Given the description of an element on the screen output the (x, y) to click on. 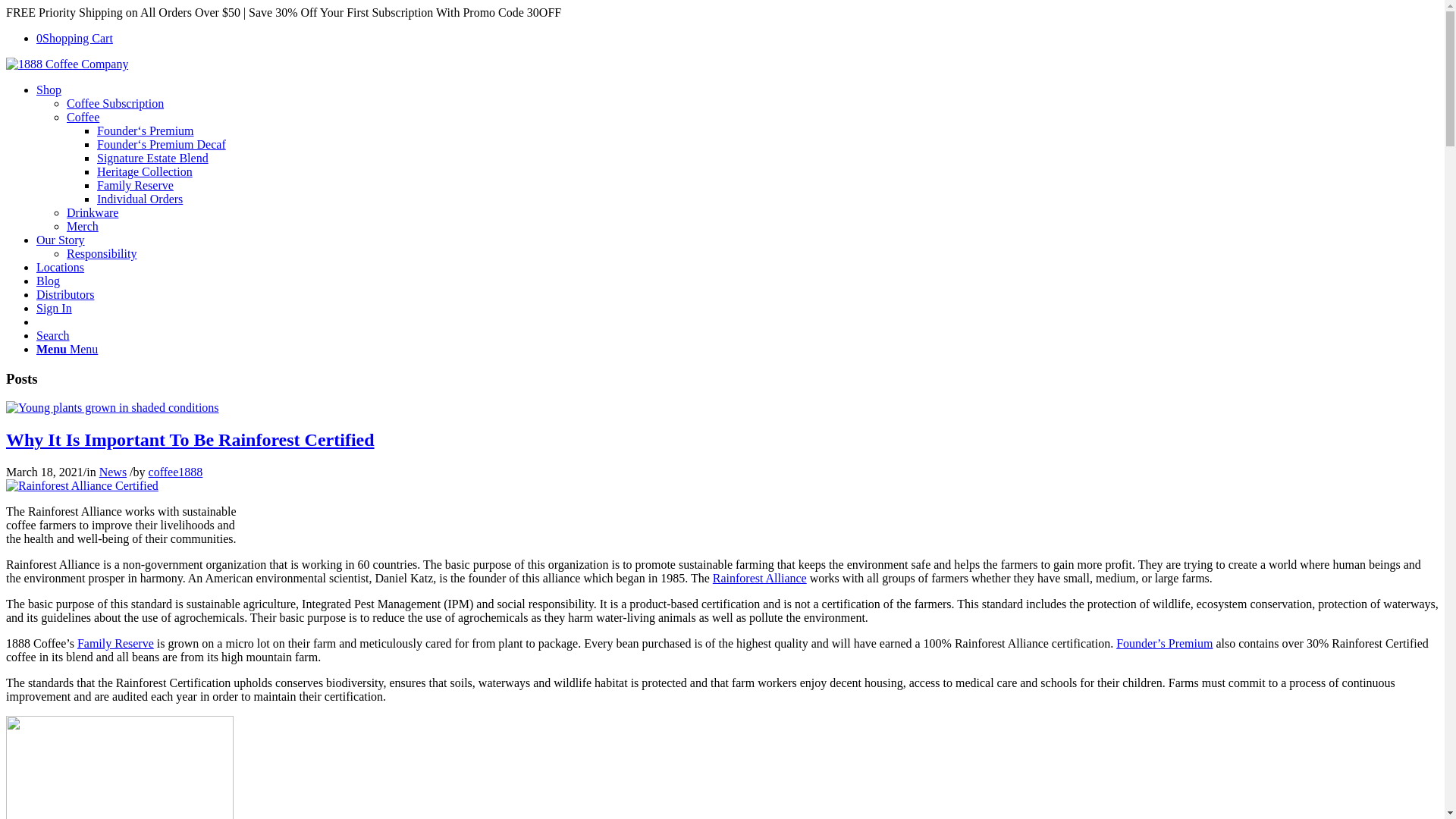
Family Reserve Element type: text (115, 643)
Shop Element type: text (48, 89)
Blog Element type: text (47, 280)
Coffee Subscription Element type: text (114, 103)
Sign In Element type: text (54, 307)
Search Element type: text (52, 335)
Rainforest Alliance Element type: text (759, 577)
coffee1888 Element type: text (175, 471)
Menu Menu Element type: text (66, 348)
Signature Estate Blend Element type: text (152, 157)
Individual Orders Element type: text (139, 198)
0Shopping Cart Element type: text (74, 37)
Merch Element type: text (82, 225)
Responsibility Element type: text (101, 253)
Drinkware Element type: text (92, 212)
Why It Is Important To Be Rainforest Certified Element type: text (190, 439)
Our Story Element type: text (60, 239)
Family Reserve Element type: text (135, 184)
Young plants grown in shaded conditions Element type: hover (112, 407)
Coffee Element type: text (82, 116)
Locations Element type: text (60, 266)
Heritage Collection Element type: text (144, 171)
News Element type: text (112, 471)
Distributors Element type: text (65, 294)
